Given the description of an element on the screen output the (x, y) to click on. 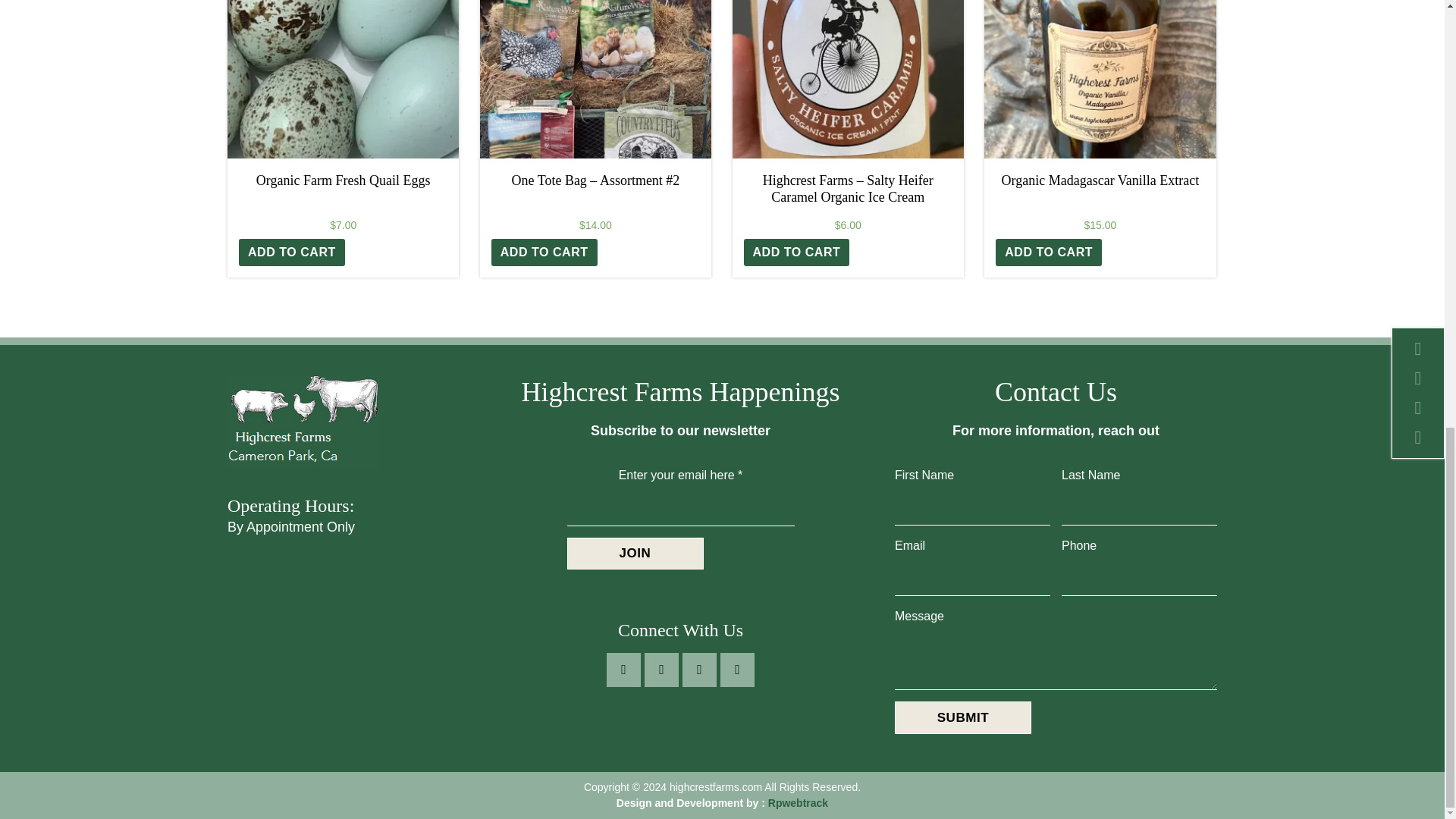
Submit (962, 717)
Join (635, 553)
